Given the description of an element on the screen output the (x, y) to click on. 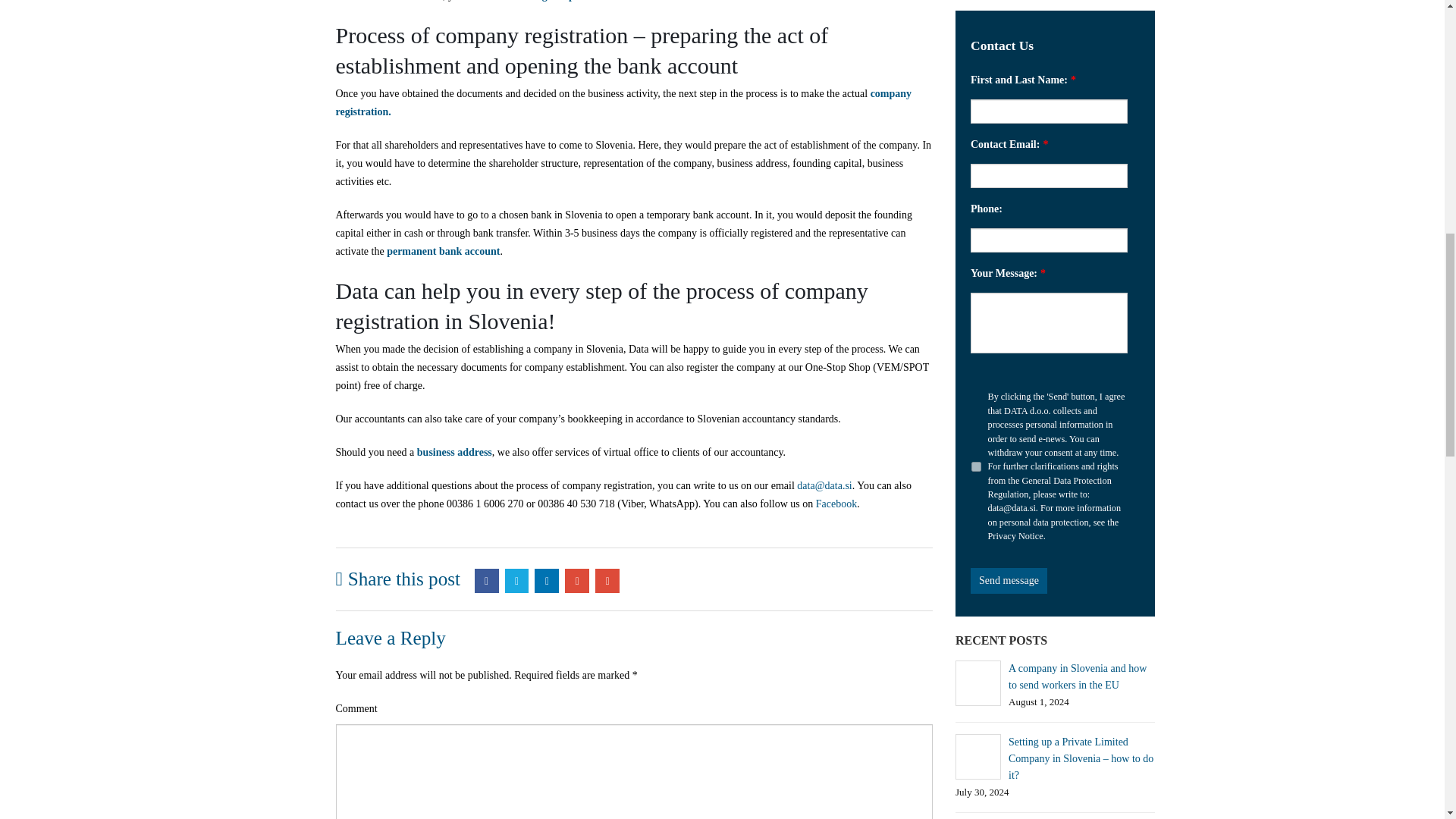
Email (607, 580)
Send message (1008, 580)
Twitter (517, 580)
Facebook (486, 580)
LinkedIn (546, 580)
